Given the description of an element on the screen output the (x, y) to click on. 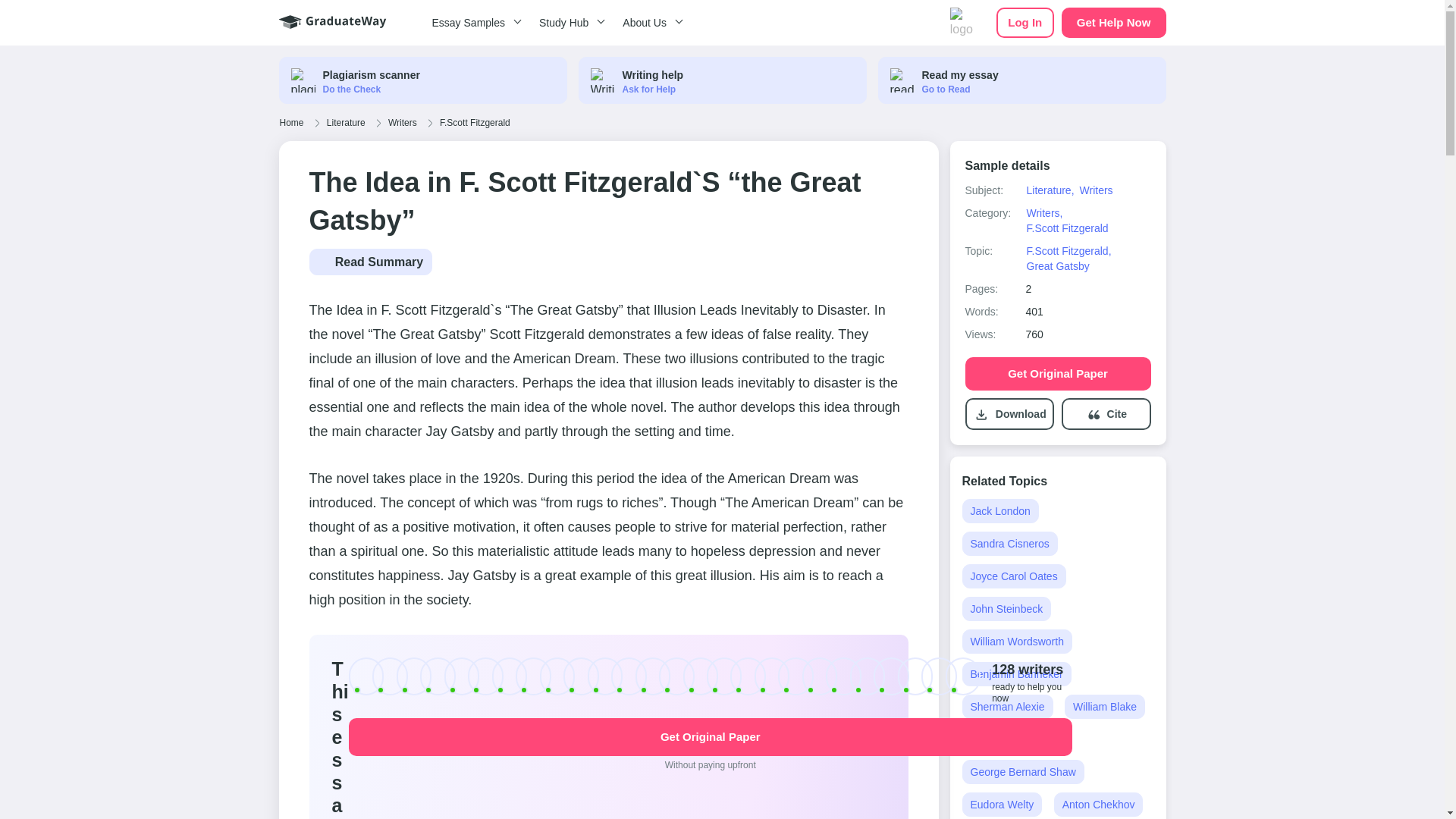
F.Scott Fitzgerald (475, 122)
Writers (402, 122)
Literature, (1049, 190)
Home (291, 122)
Cite (1116, 413)
Writers (1095, 190)
Literature (346, 122)
Essay Samples (473, 22)
About Us (649, 22)
Study Hub (569, 22)
